Given the description of an element on the screen output the (x, y) to click on. 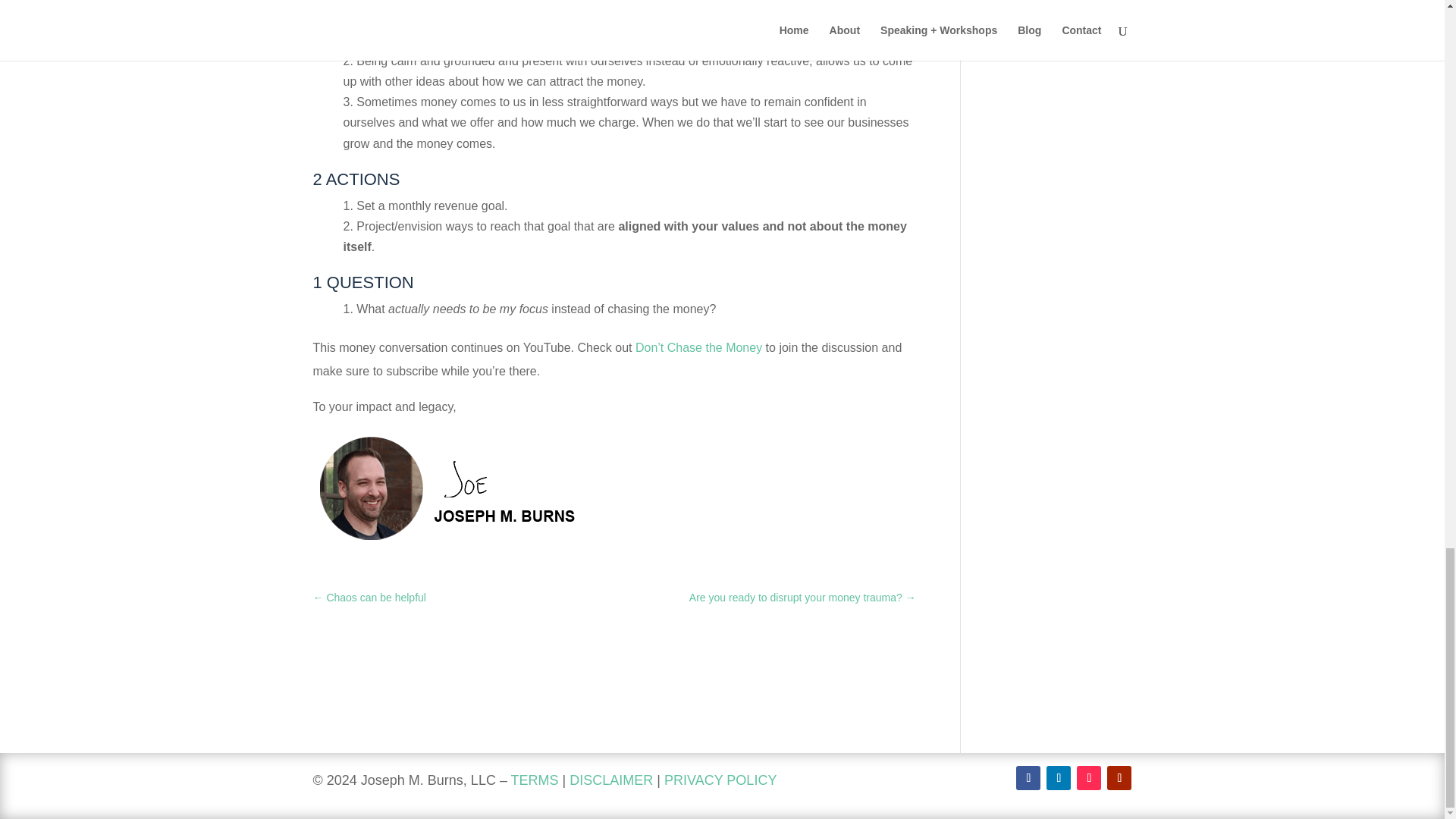
Follow on LinkedIn (1058, 777)
Follow on Youtube (1118, 777)
Follow on TikTok (1088, 777)
Follow on Facebook (1028, 777)
